Given the description of an element on the screen output the (x, y) to click on. 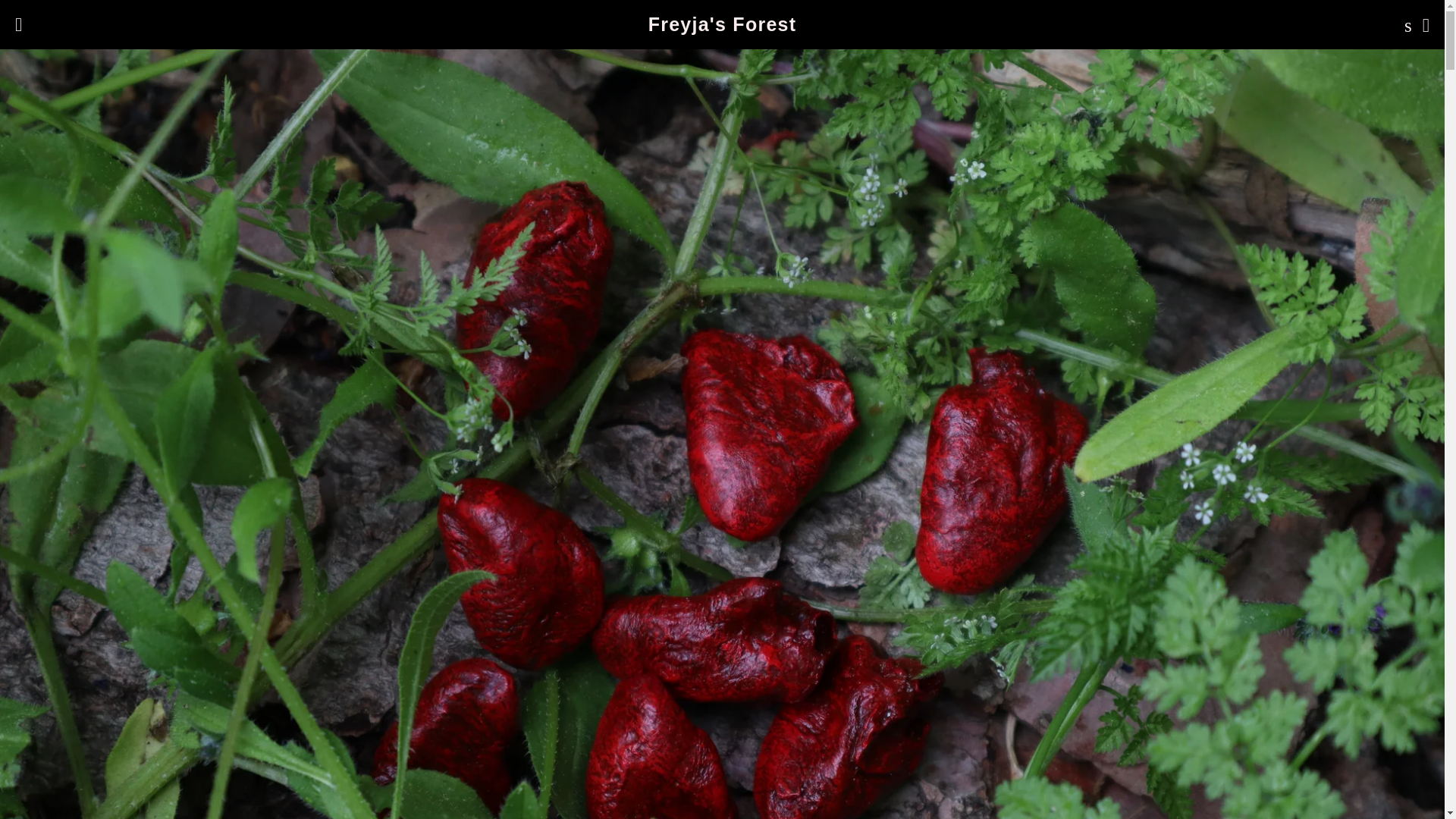
Freyja's Forest (722, 24)
